Given the description of an element on the screen output the (x, y) to click on. 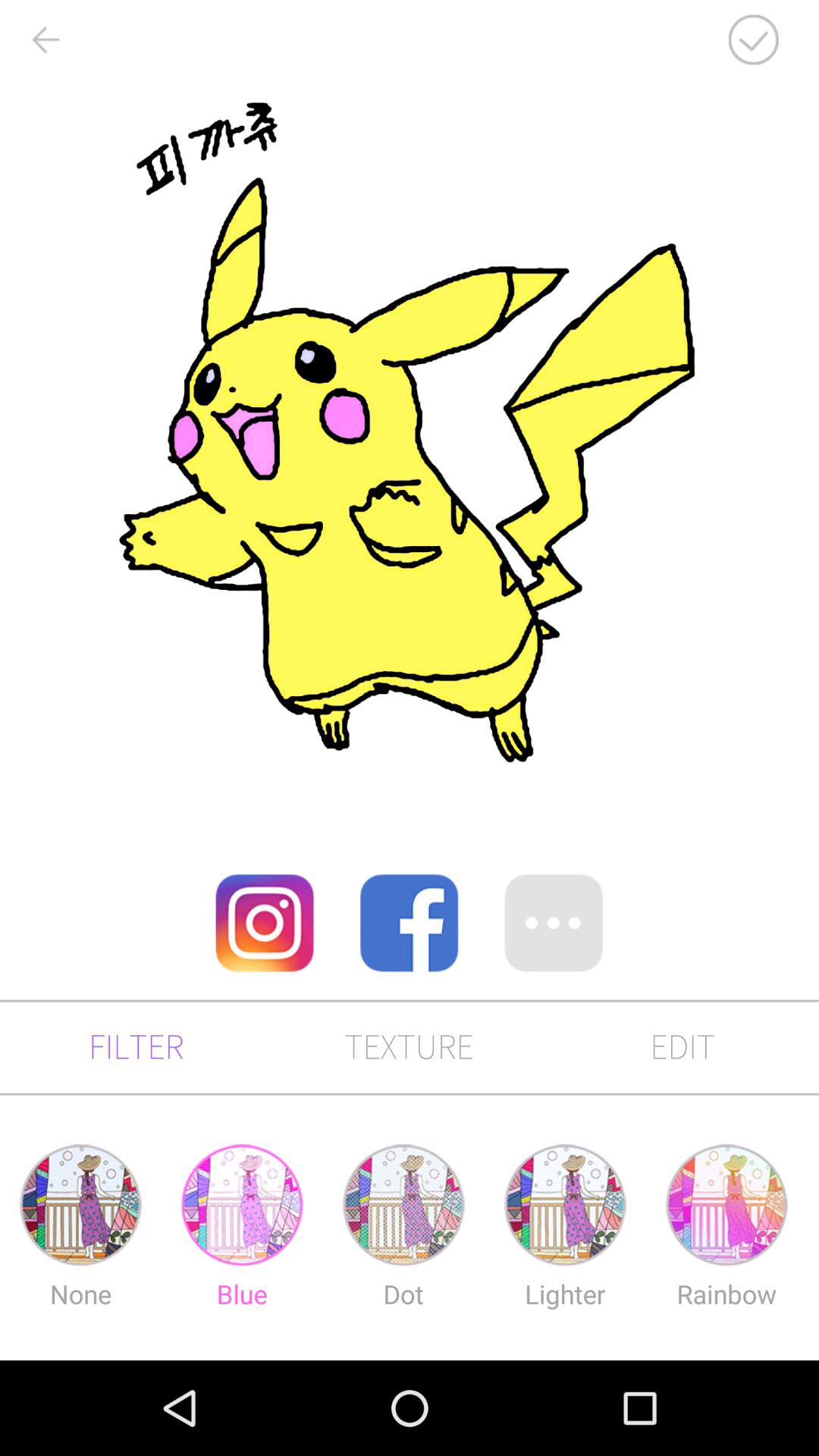
turn on the item at the top right corner (753, 39)
